Given the description of an element on the screen output the (x, y) to click on. 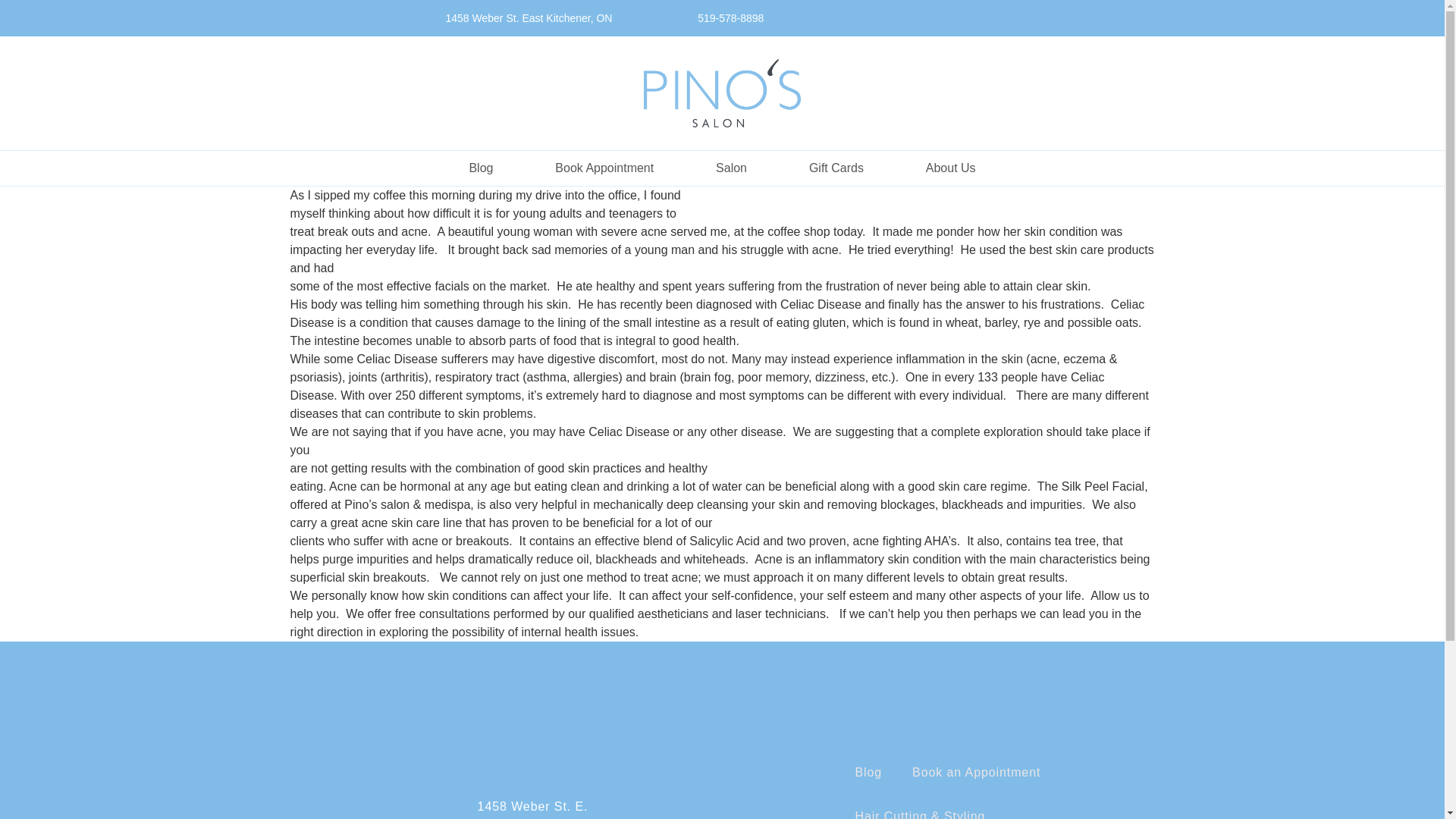
1458 Weber St. East Kitchener, ON (528, 18)
1458 Weber St. E. Kitchener, ON (532, 809)
Book Appointment (604, 167)
519-578-8898 (721, 18)
Blog (481, 167)
About Us (951, 167)
Gift Cards (836, 167)
Salon (730, 167)
